Given the description of an element on the screen output the (x, y) to click on. 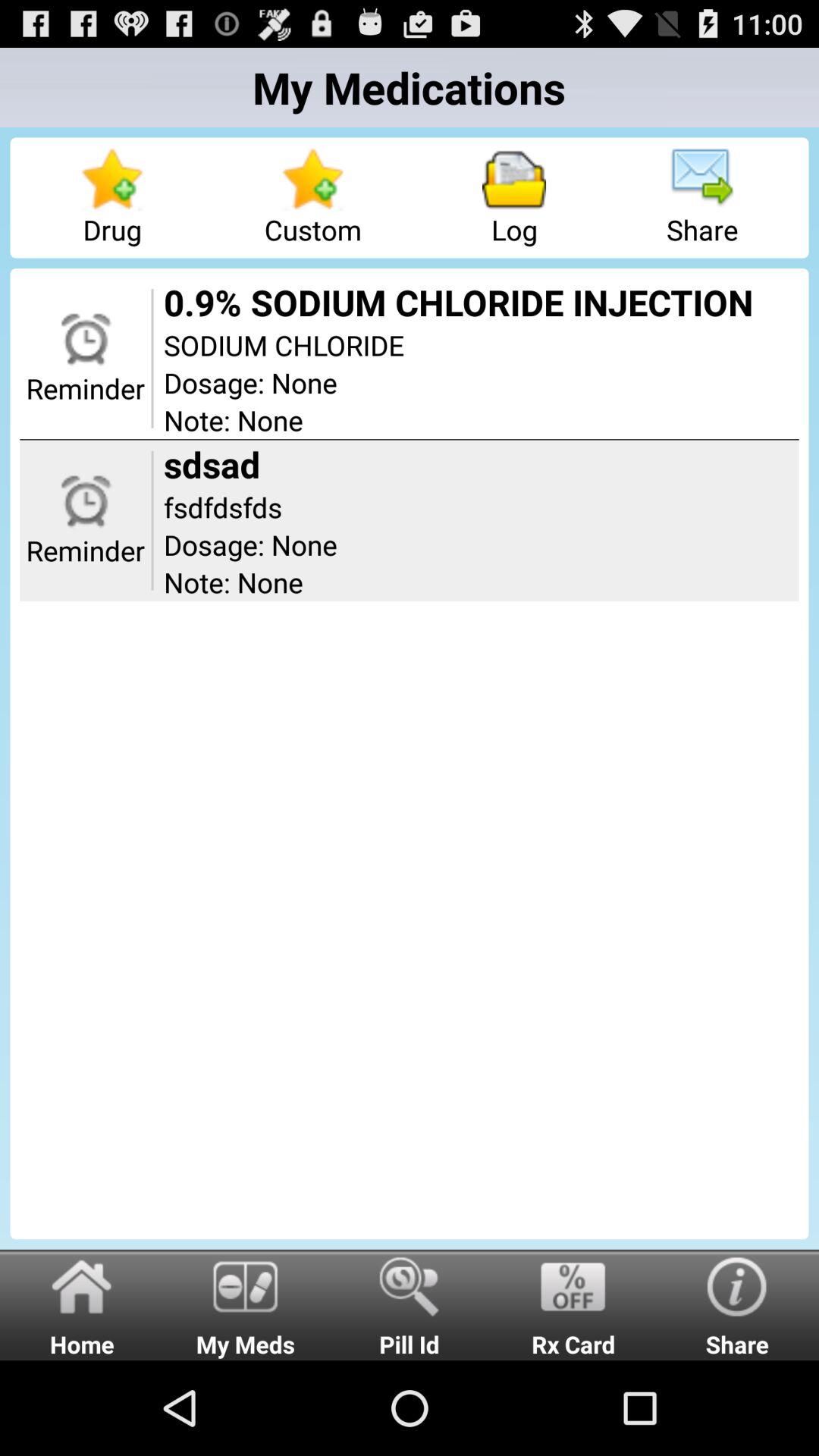
turn off the app below note: none item (409, 1304)
